Given the description of an element on the screen output the (x, y) to click on. 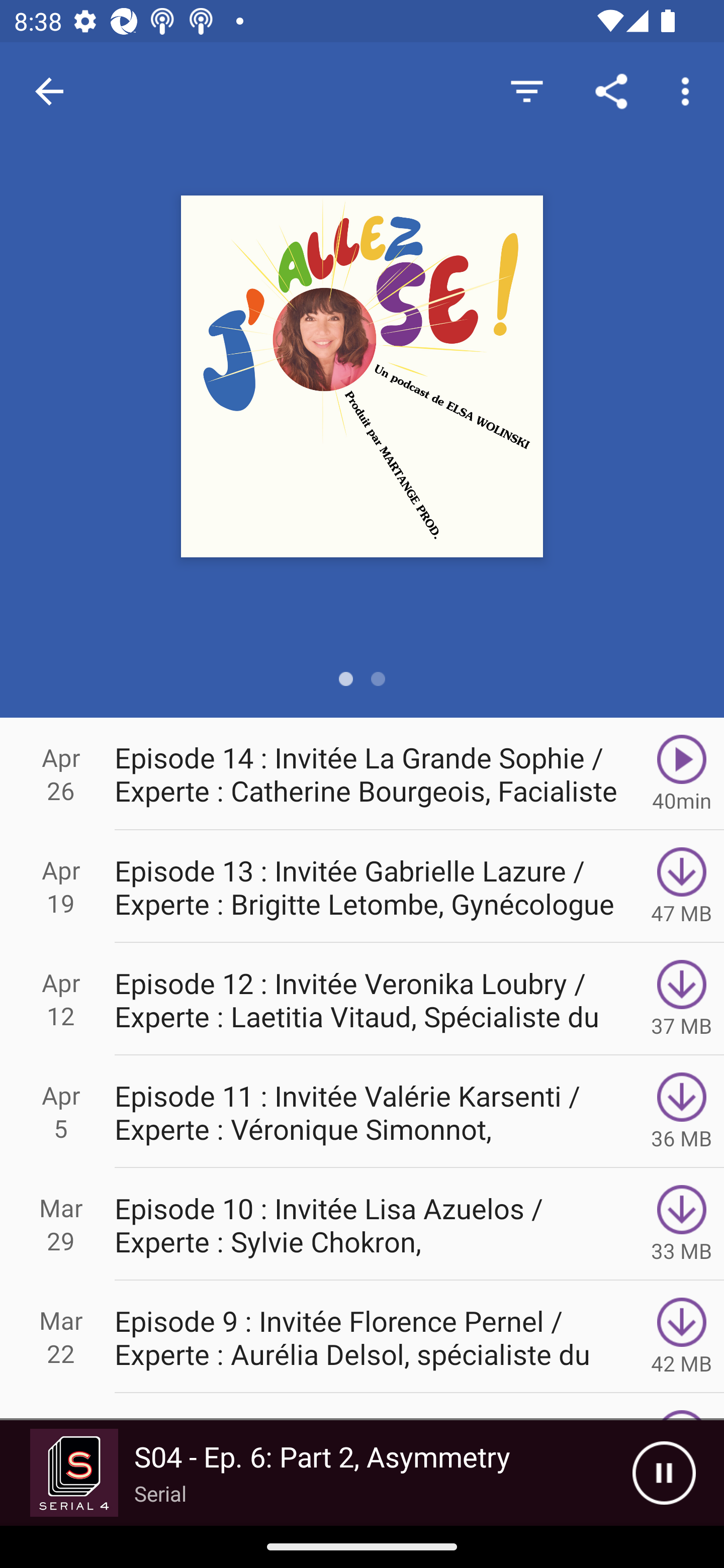
Navigate up (49, 91)
Hide Episodes (526, 90)
Share Link (611, 90)
More options (688, 90)
Play 40min (681, 773)
Download 47 MB (681, 885)
Download 37 MB (681, 998)
Download 36 MB (681, 1111)
Download 33 MB (681, 1224)
Download 42 MB (681, 1336)
Picture S04 - Ep. 6: Part 2, Asymmetry Serial (316, 1472)
Pause (663, 1472)
